Given the description of an element on the screen output the (x, y) to click on. 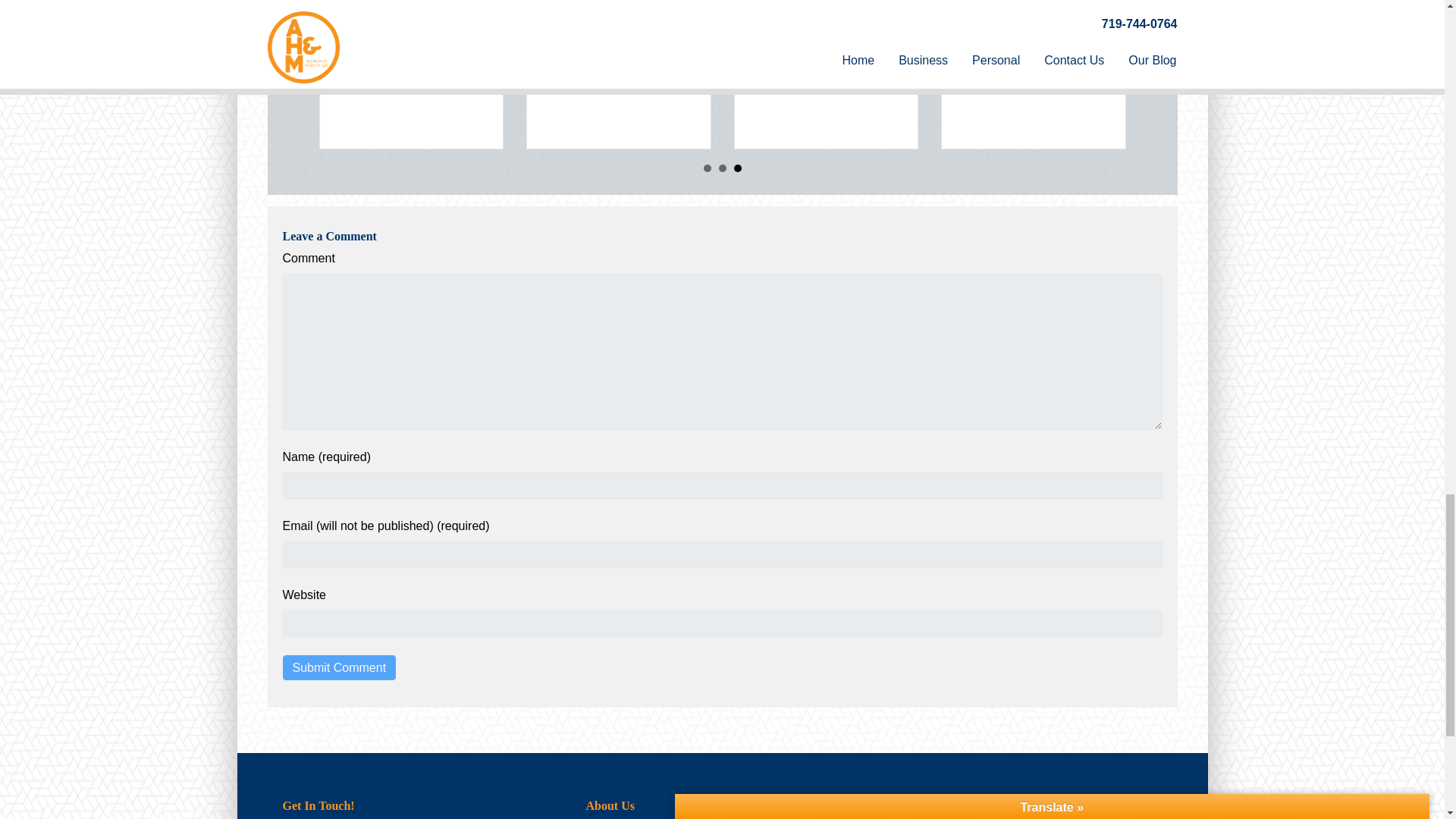
Read More (775, 85)
Submit Comment (339, 667)
Read More (360, 85)
Read More (567, 85)
